Given the description of an element on the screen output the (x, y) to click on. 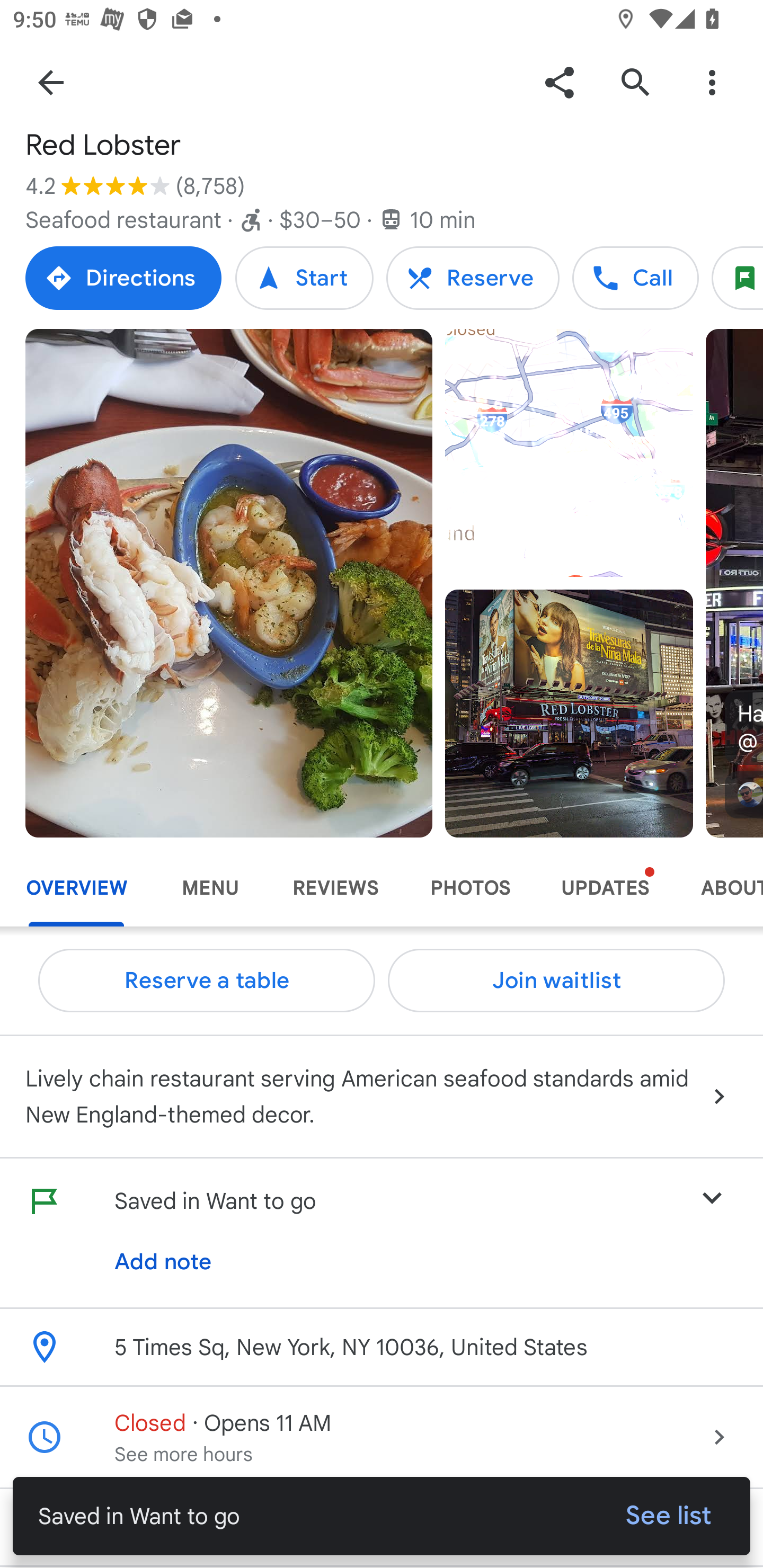
Back to Search (50, 81)
Share (559, 81)
Search (635, 81)
More options for Red Lobster (711, 81)
Start Start Start (304, 277)
Reserve a table Reserve Reserve a table (472, 277)
Photo (228, 583)
Video (568, 453)
Photo (568, 713)
MENU Menu (209, 887)
REVIEWS Reviews (335, 887)
PHOTOS Photos (469, 887)
UPDATES Updates New updates in Updates (605, 887)
ABOUT About (719, 887)
Reserve a table Reserve a table Reserve a table (206, 980)
Join waitlist Join waitlist Join waitlist (555, 980)
Activate to expand (381, 1196)
Add note Add note for Want to go (163, 1261)
See list (668, 1515)
